Given the description of an element on the screen output the (x, y) to click on. 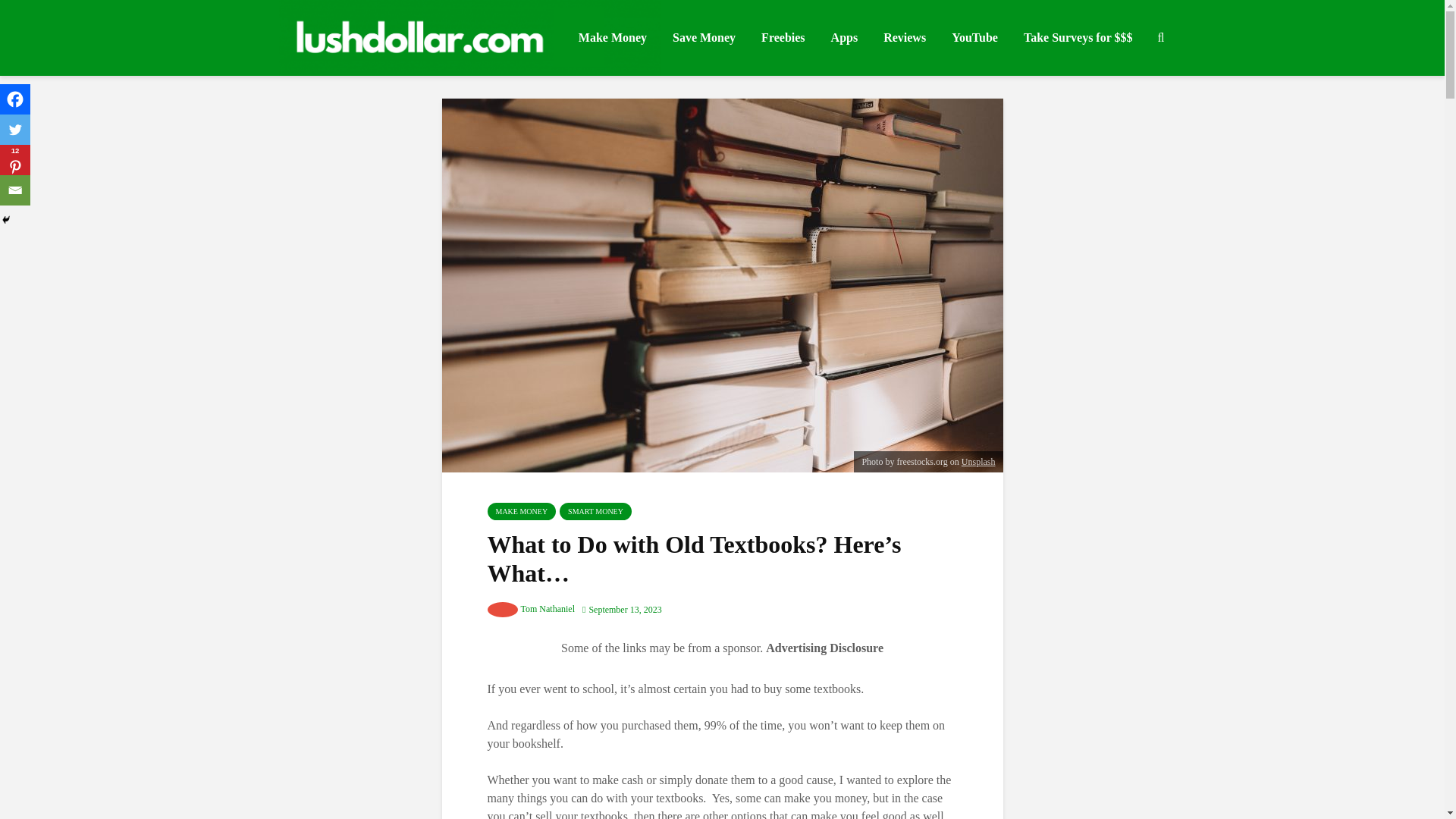
Twitter (15, 129)
Save Money (703, 37)
Reviews (904, 37)
Hide (5, 219)
Apps (844, 37)
Make Money (612, 37)
Freebies (782, 37)
YouTube (974, 37)
Email (15, 190)
Pinterest (15, 159)
Facebook (15, 99)
